Given the description of an element on the screen output the (x, y) to click on. 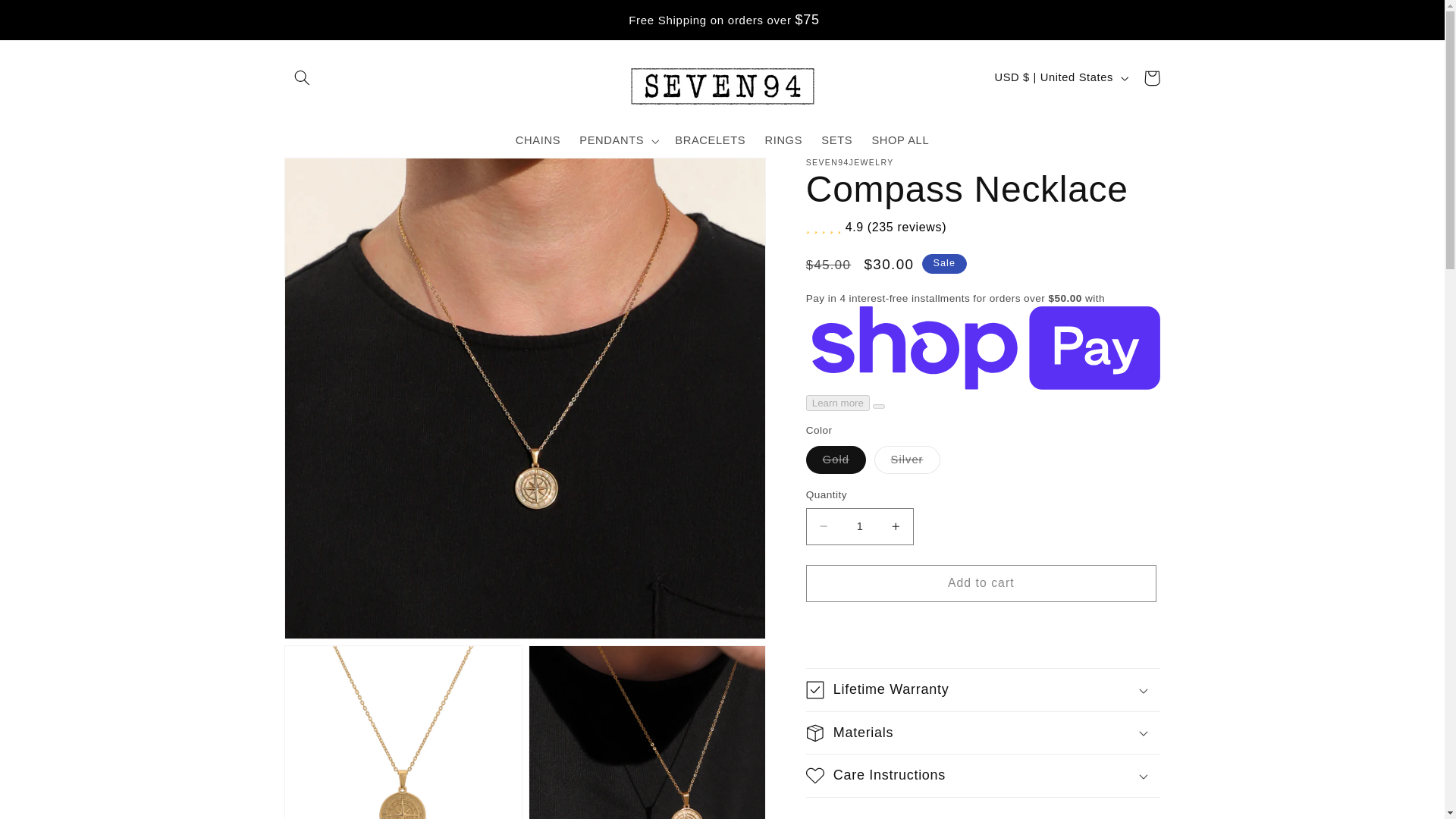
SHOP ALL (900, 141)
SETS (836, 141)
1 (860, 526)
Skip to product information (331, 175)
CHAINS (537, 141)
Cart (1151, 77)
BRACELETS (710, 141)
RINGS (783, 141)
Skip to content (48, 18)
